Given the description of an element on the screen output the (x, y) to click on. 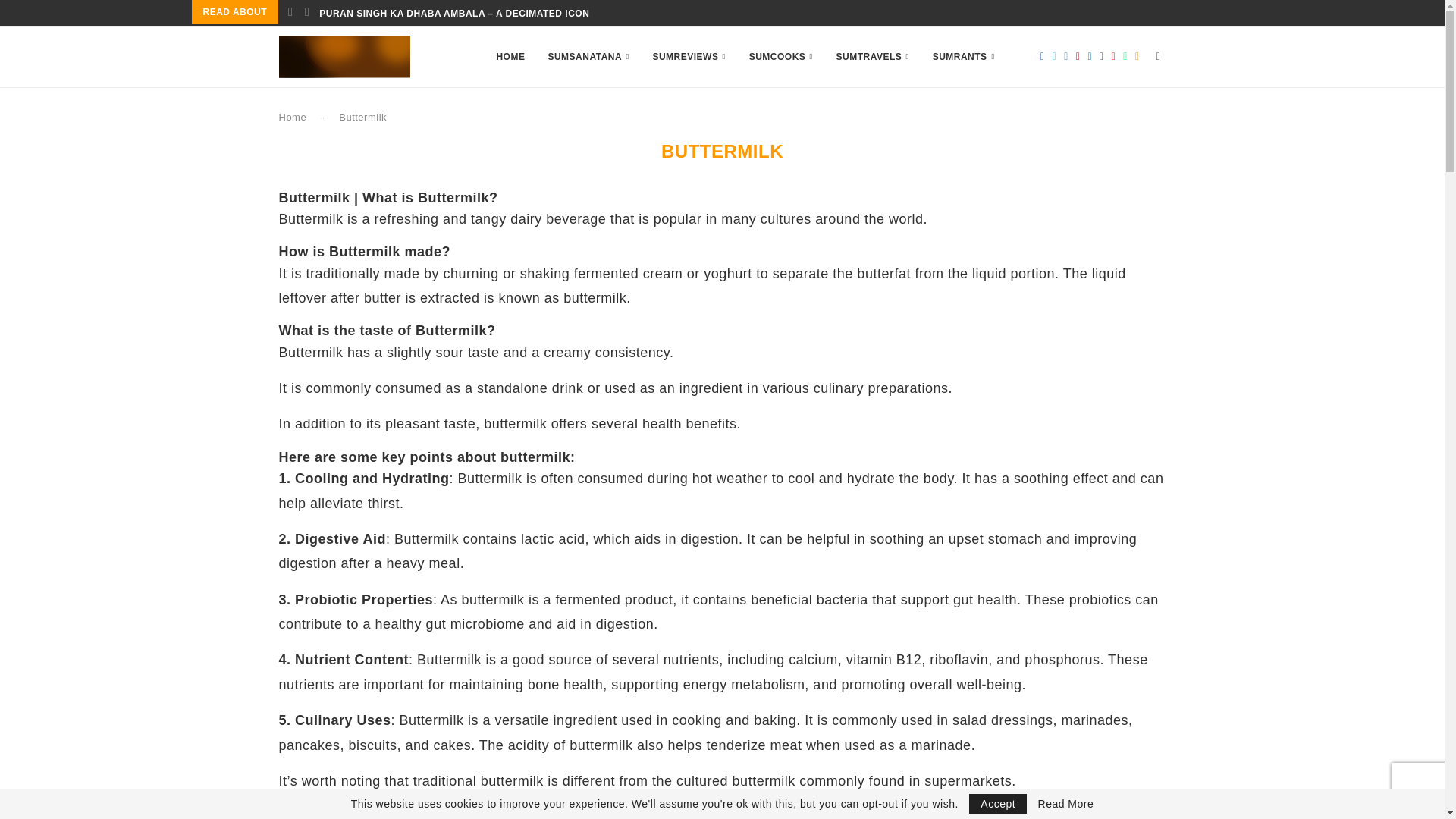
SUMSANATANA (587, 56)
SUMCOOKS (781, 56)
SUMREVIEWS (688, 56)
